Given the description of an element on the screen output the (x, y) to click on. 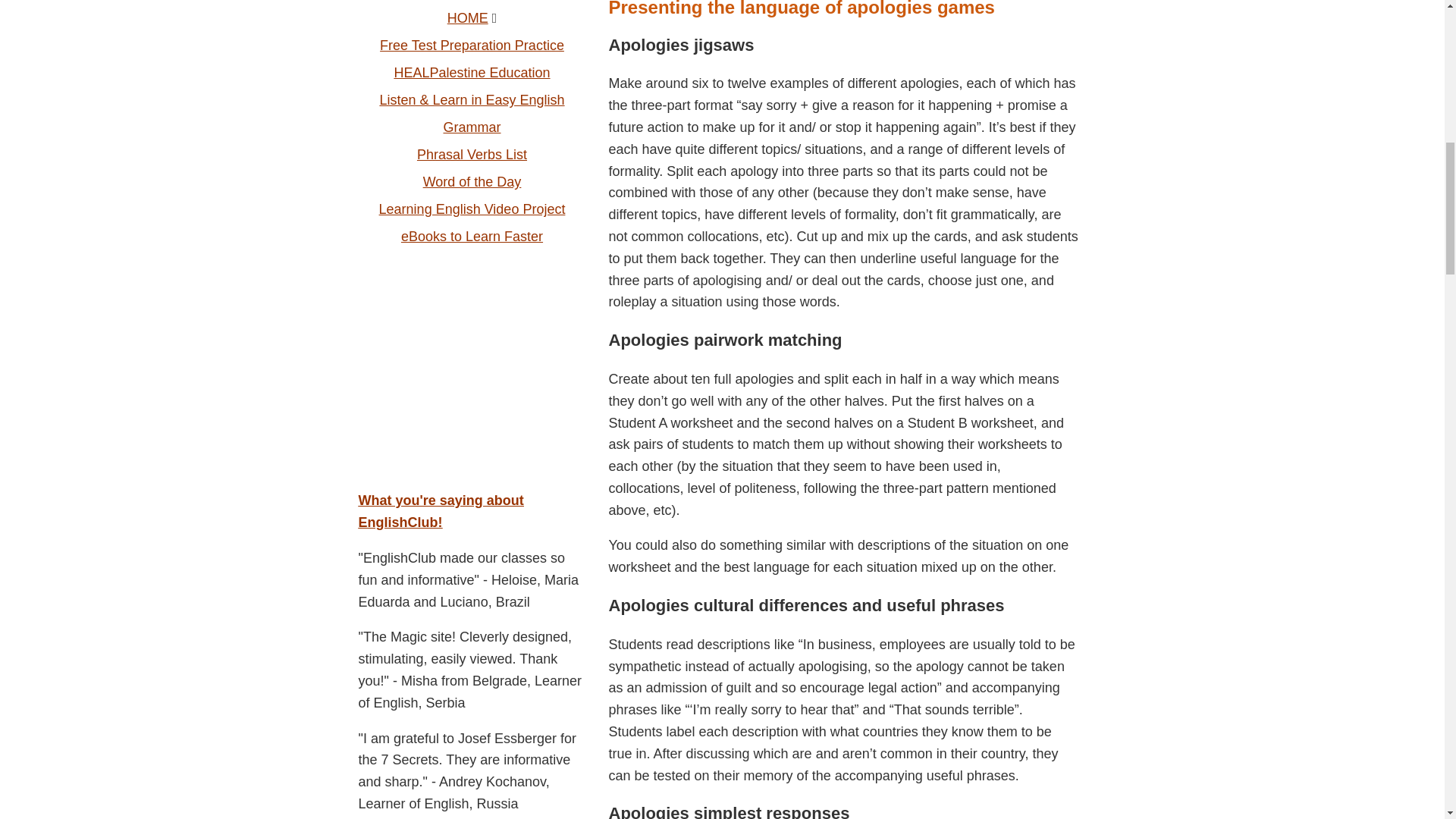
Grammar (471, 127)
Free Test Preparation Practice (472, 45)
HEALPalestine Education (471, 72)
HOME (466, 17)
